Given the description of an element on the screen output the (x, y) to click on. 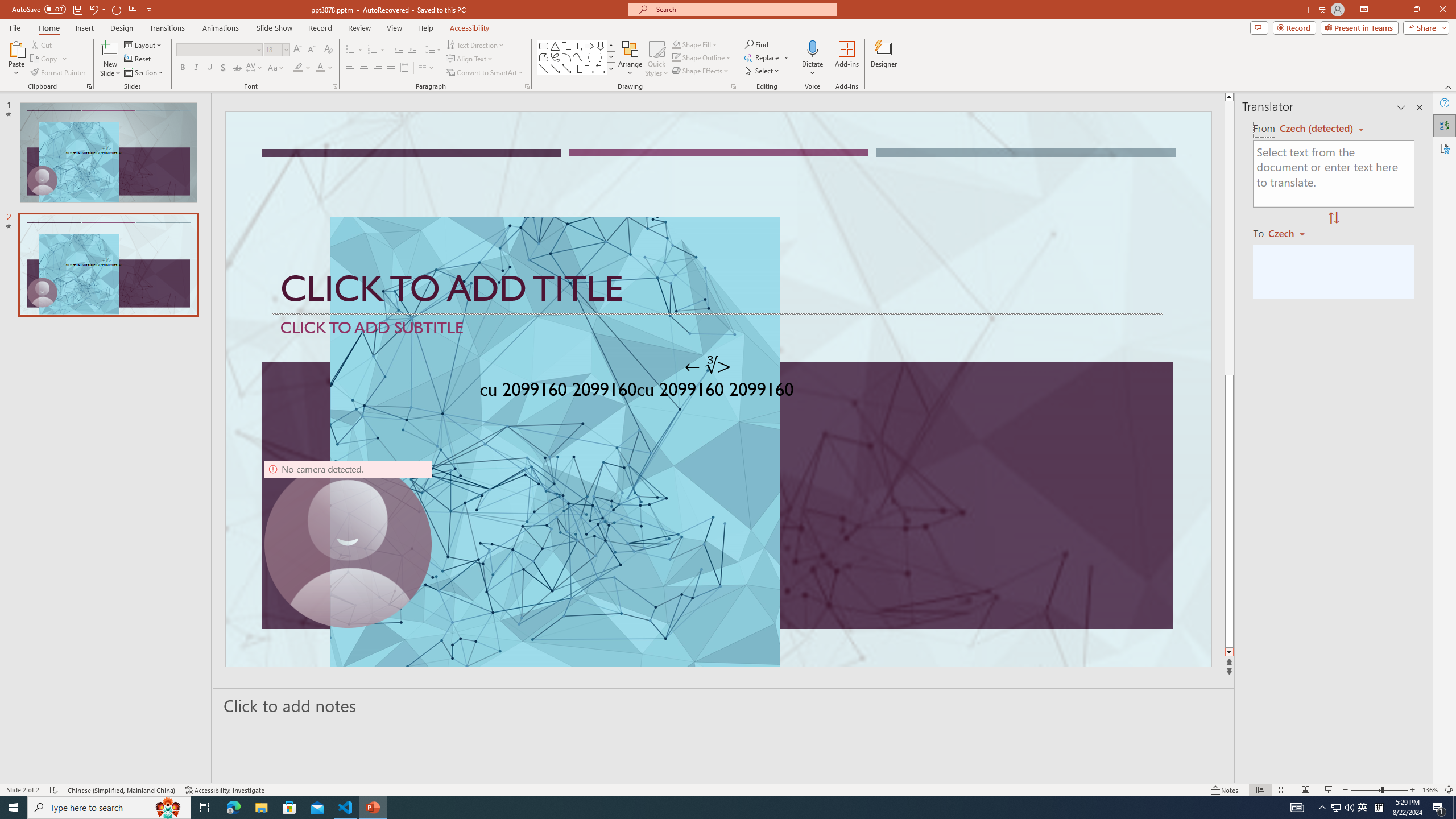
Czech (1291, 232)
An abstract genetic concept (718, 389)
